Given the description of an element on the screen output the (x, y) to click on. 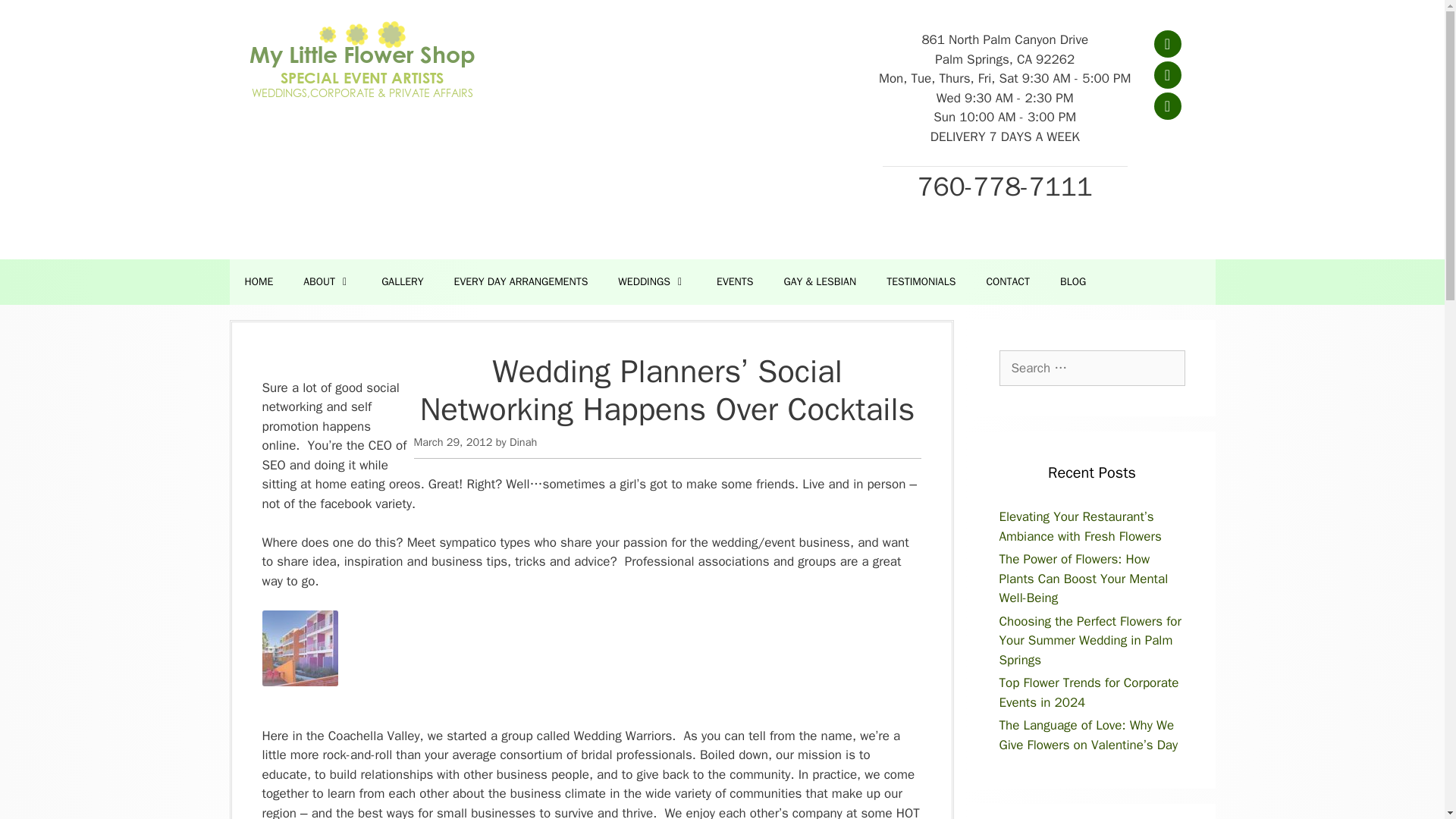
HOME (258, 281)
ABOUT (327, 281)
TESTIMONIALS (920, 281)
Search for: (1091, 368)
CONTACT (1008, 281)
Dinah (523, 441)
BLOG (1072, 281)
GALLERY (402, 281)
EVERY DAY ARRANGEMENTS (521, 281)
EVENTS (734, 281)
